Given the description of an element on the screen output the (x, y) to click on. 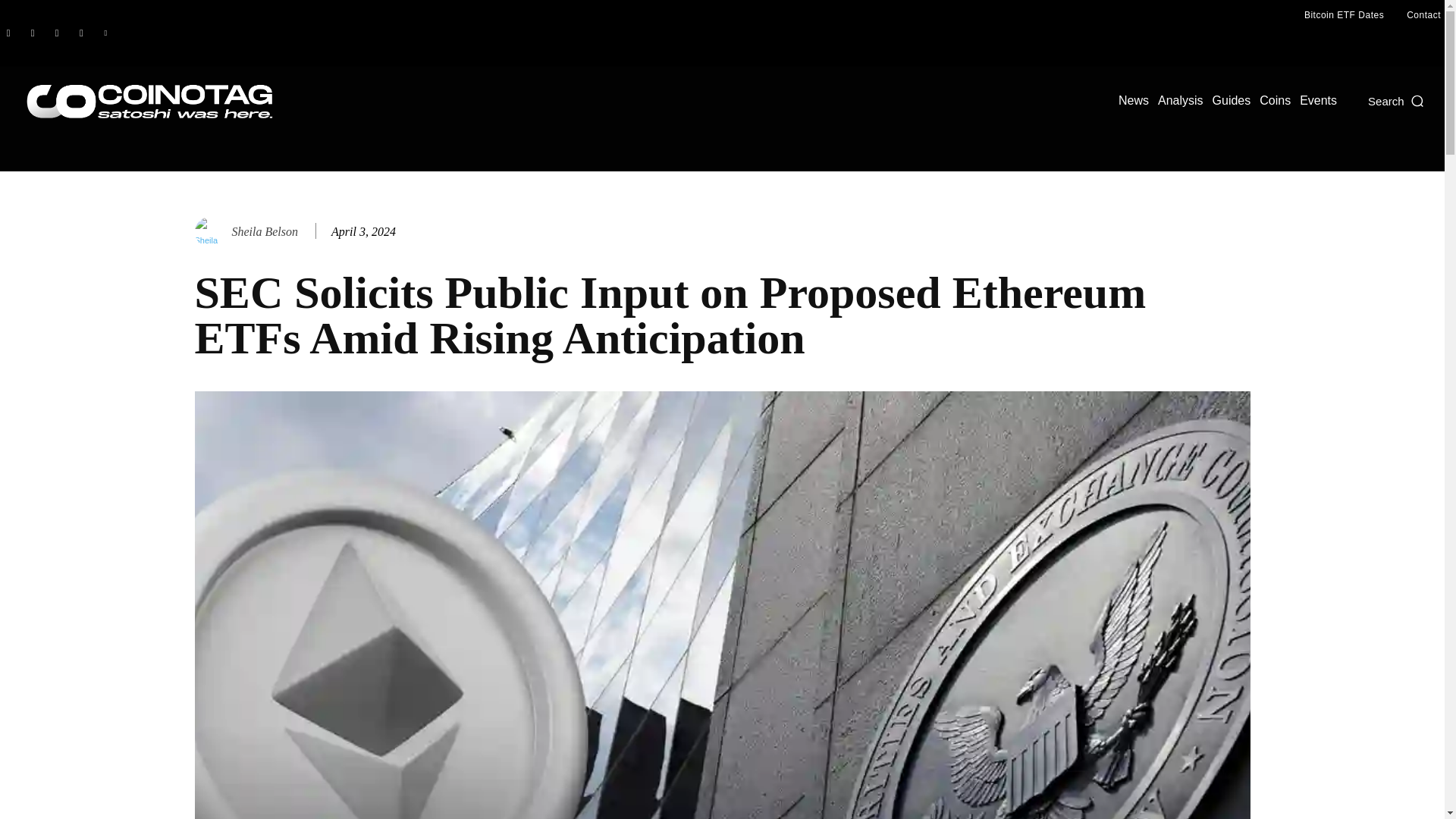
Facebook (8, 33)
RSS (56, 33)
Sheila Belson (210, 232)
Instagram (32, 33)
Bitcoin ETF Dates (1343, 15)
Twitter (105, 33)
Search (1397, 99)
Telegram (80, 33)
Sheila Belson (264, 231)
